Given the description of an element on the screen output the (x, y) to click on. 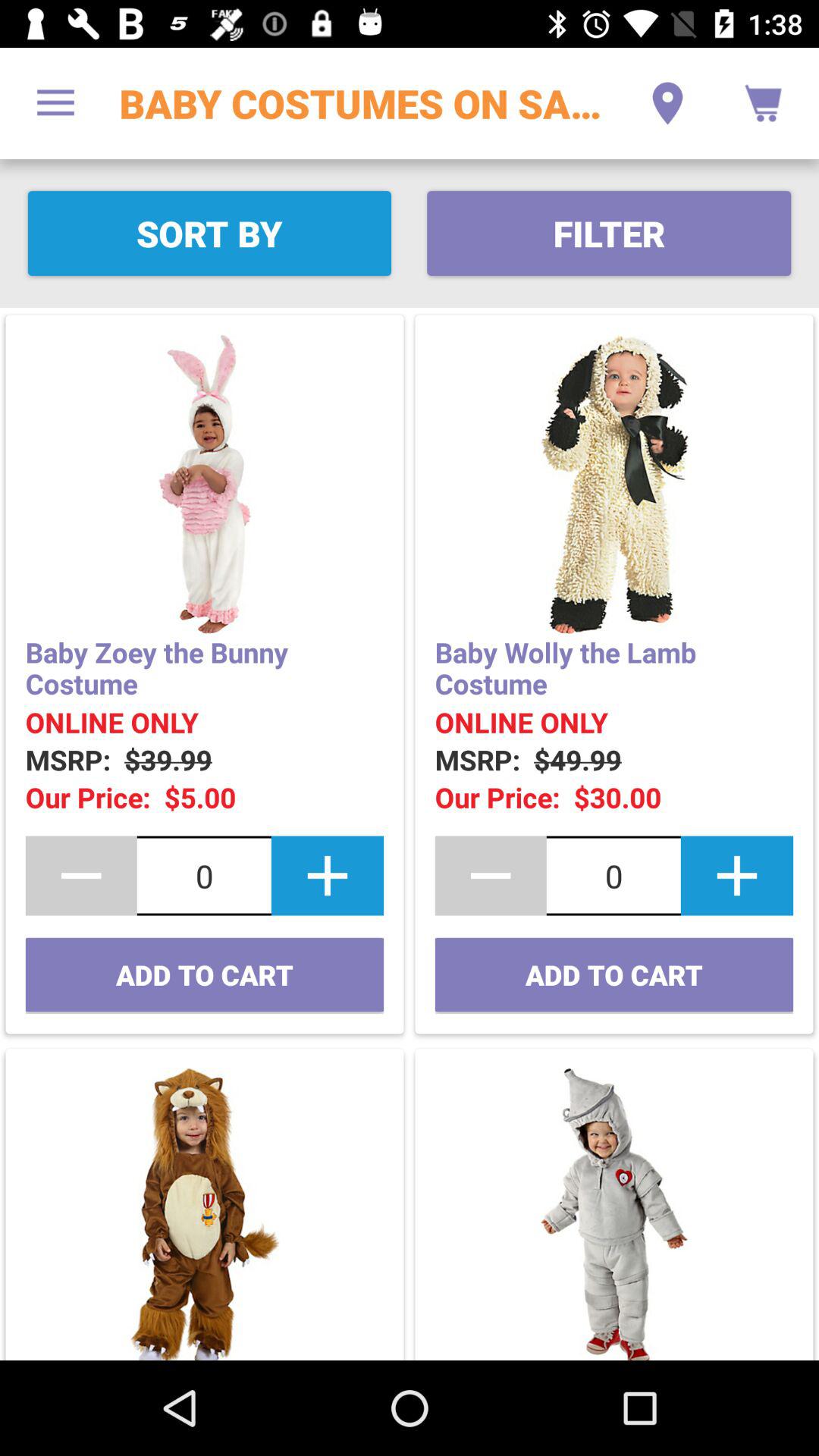
open sort by item (209, 233)
